Given the description of an element on the screen output the (x, y) to click on. 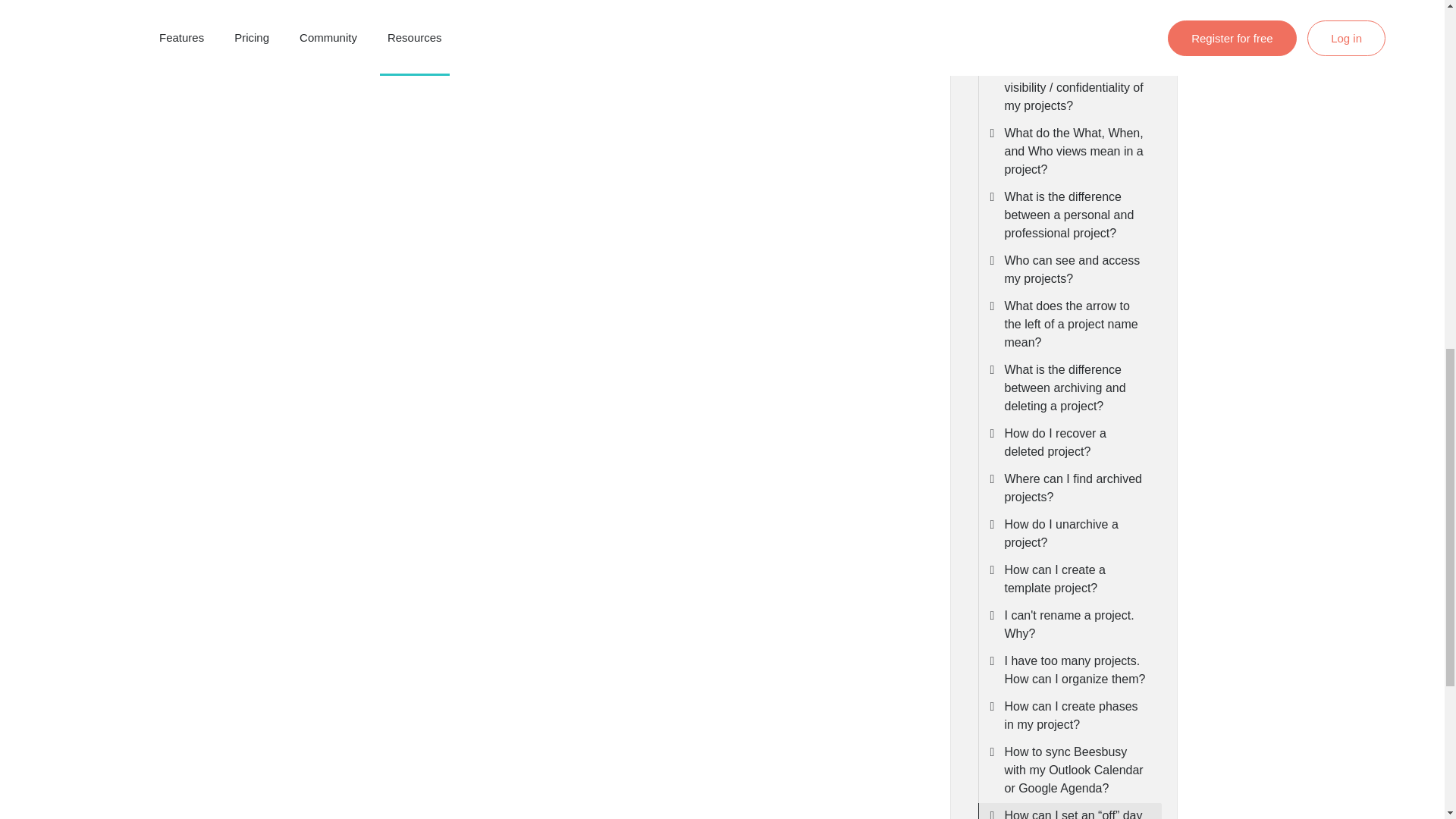
Can I link tasks from different projects or link projects? (1074, 25)
What do the What, When, and Who views mean in a project? (1074, 151)
